Given the description of an element on the screen output the (x, y) to click on. 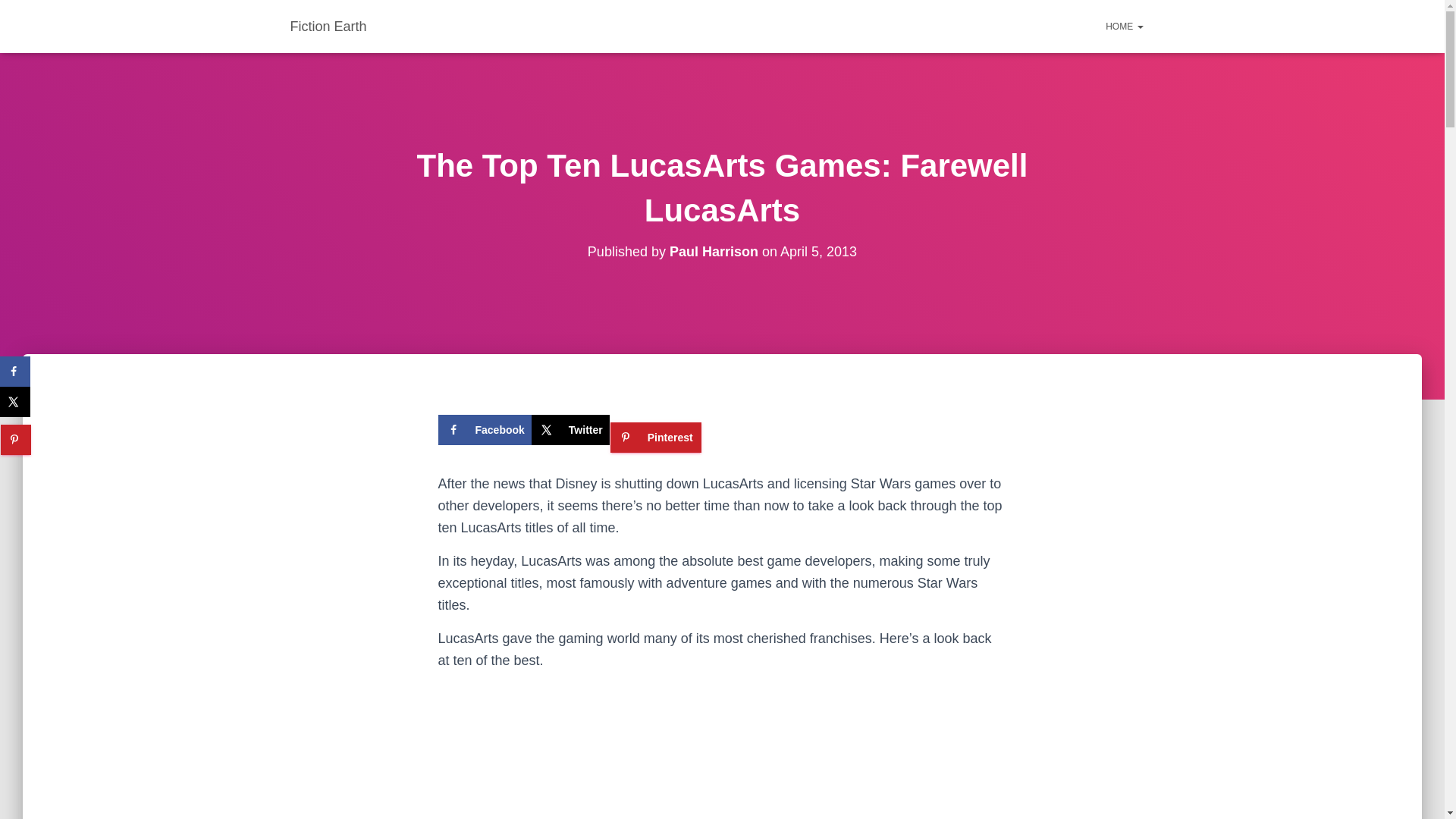
Share on X (570, 429)
Share on X (15, 401)
Save to Pinterest (15, 440)
Fiction Earth (328, 26)
Fiction Earth (328, 26)
Pinterest (655, 437)
Twitter (570, 429)
Paul Harrison (713, 251)
Facebook (484, 429)
Home (1124, 26)
Share on Facebook (484, 429)
Advertisement (722, 785)
Share on Facebook (15, 371)
HOME (1124, 26)
Save to Pinterest (655, 437)
